Given the description of an element on the screen output the (x, y) to click on. 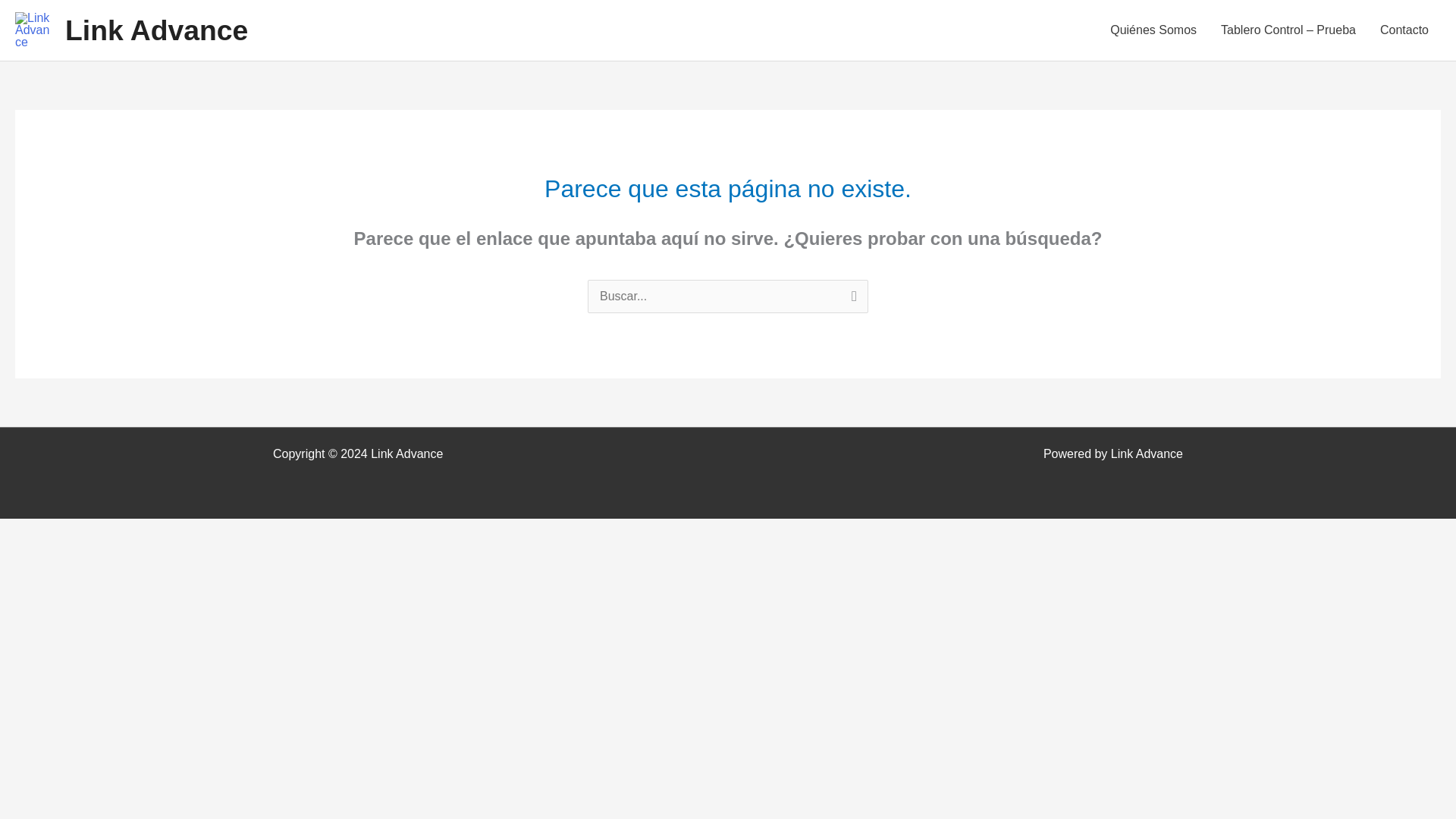
Contacto (1404, 30)
Link Advance (156, 29)
